Given the description of an element on the screen output the (x, y) to click on. 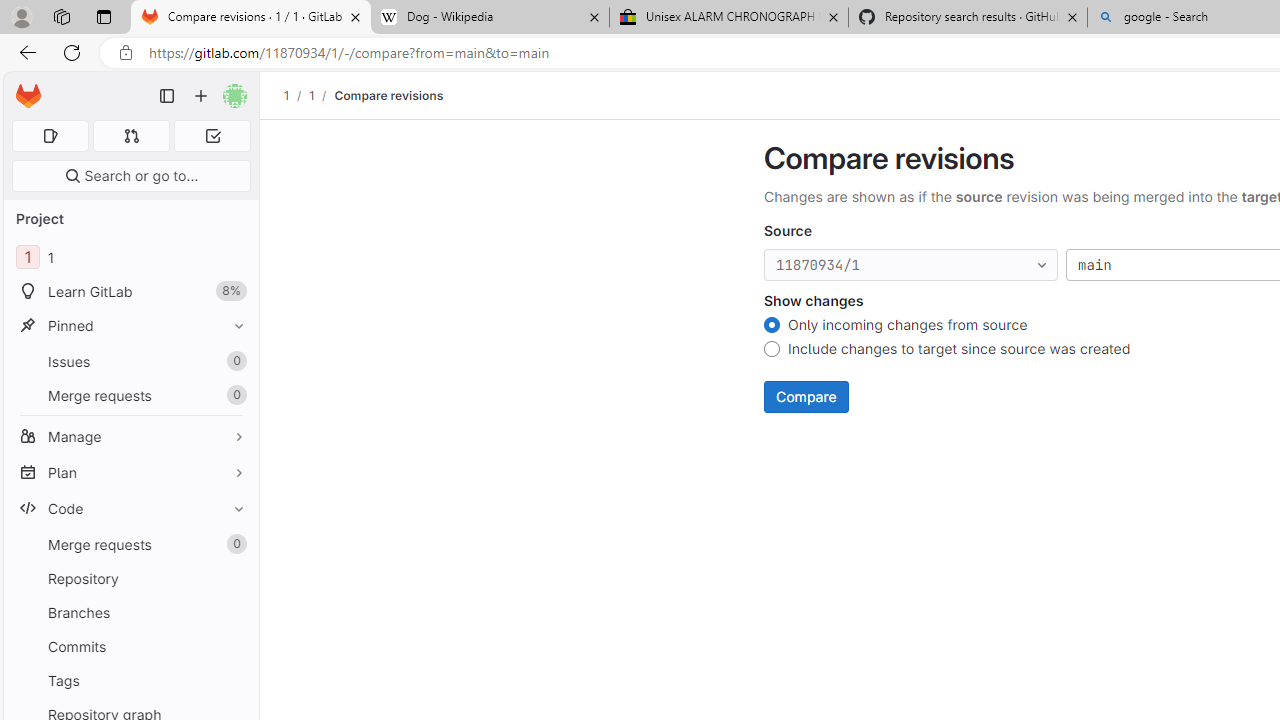
Branches (130, 612)
11 (130, 257)
Primary navigation sidebar (167, 96)
Only incoming changes from source (771, 326)
Repository (130, 578)
11870934/1 (911, 265)
Pinned (130, 325)
Issues0 (130, 361)
To-Do list 0 (212, 136)
